Given the description of an element on the screen output the (x, y) to click on. 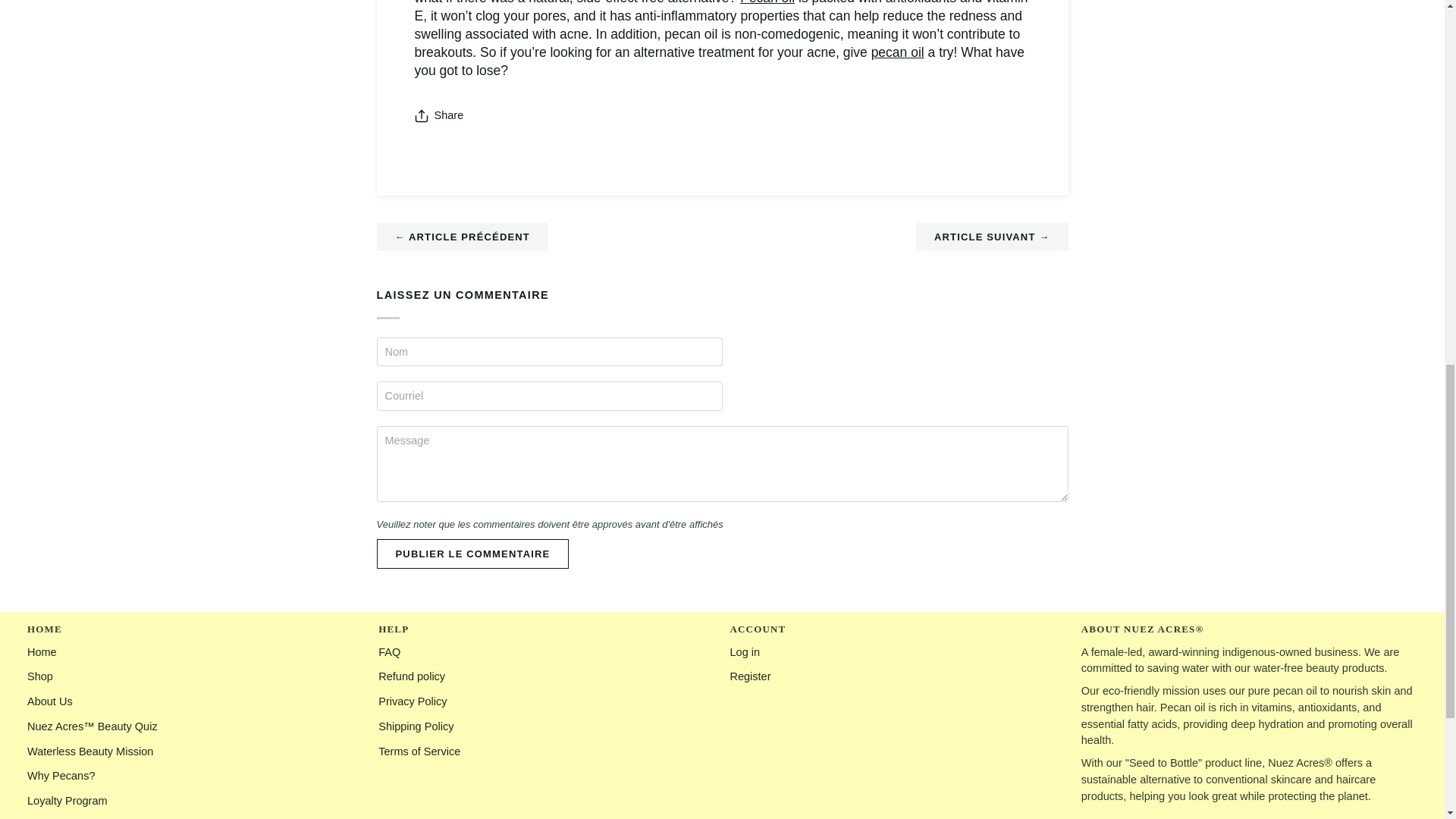
pecan oil (897, 52)
Pure Pecan Oil (766, 2)
Pure Pecan Oil (897, 52)
Home (41, 652)
PUBLIER LE COMMENTAIRE (472, 553)
Shop (39, 676)
Pecan oil (766, 2)
